Given the description of an element on the screen output the (x, y) to click on. 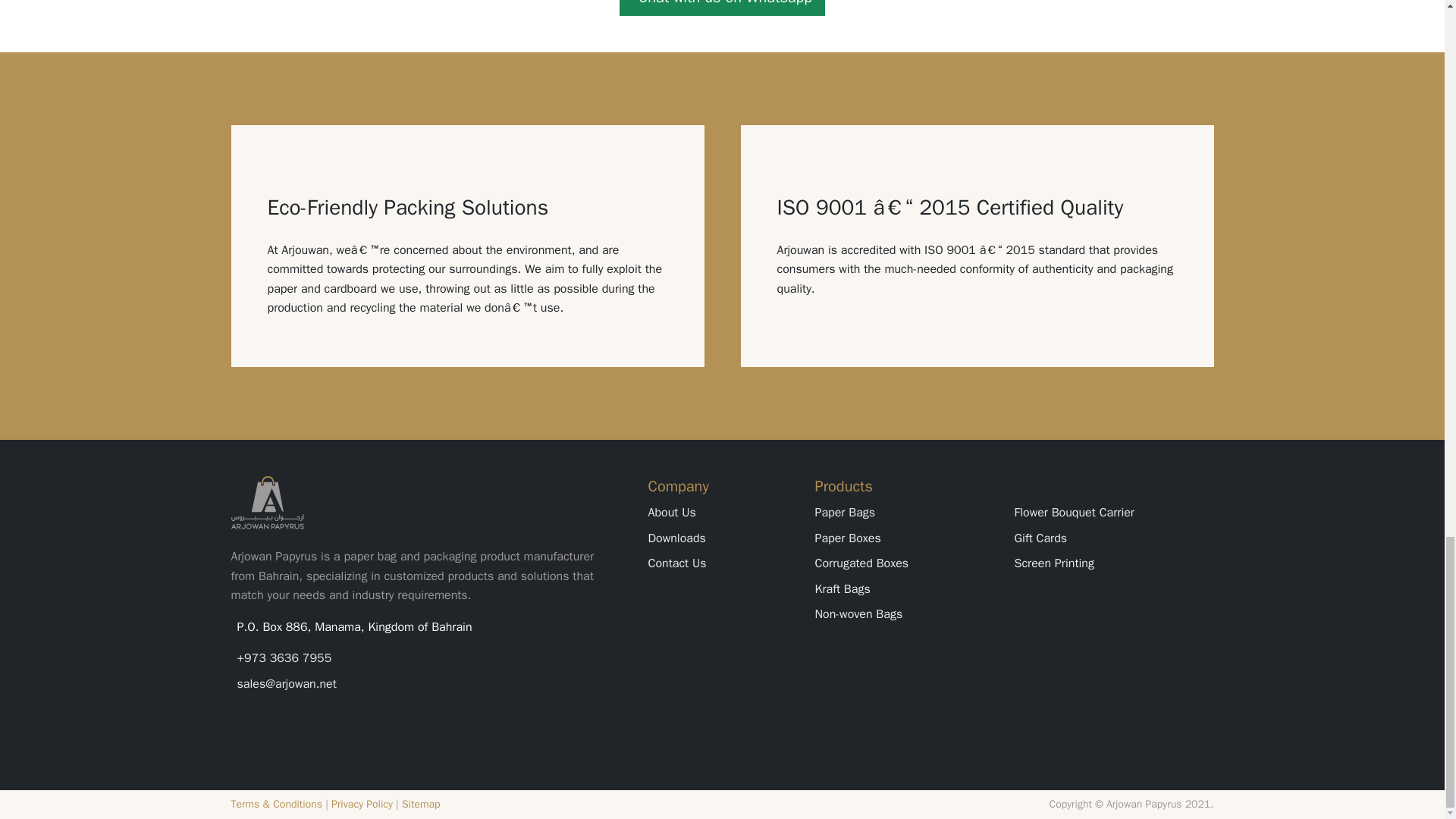
Contact Us (676, 563)
Downloads (675, 538)
About Us (671, 512)
Chat with us on Whatsapp (722, 7)
